Given the description of an element on the screen output the (x, y) to click on. 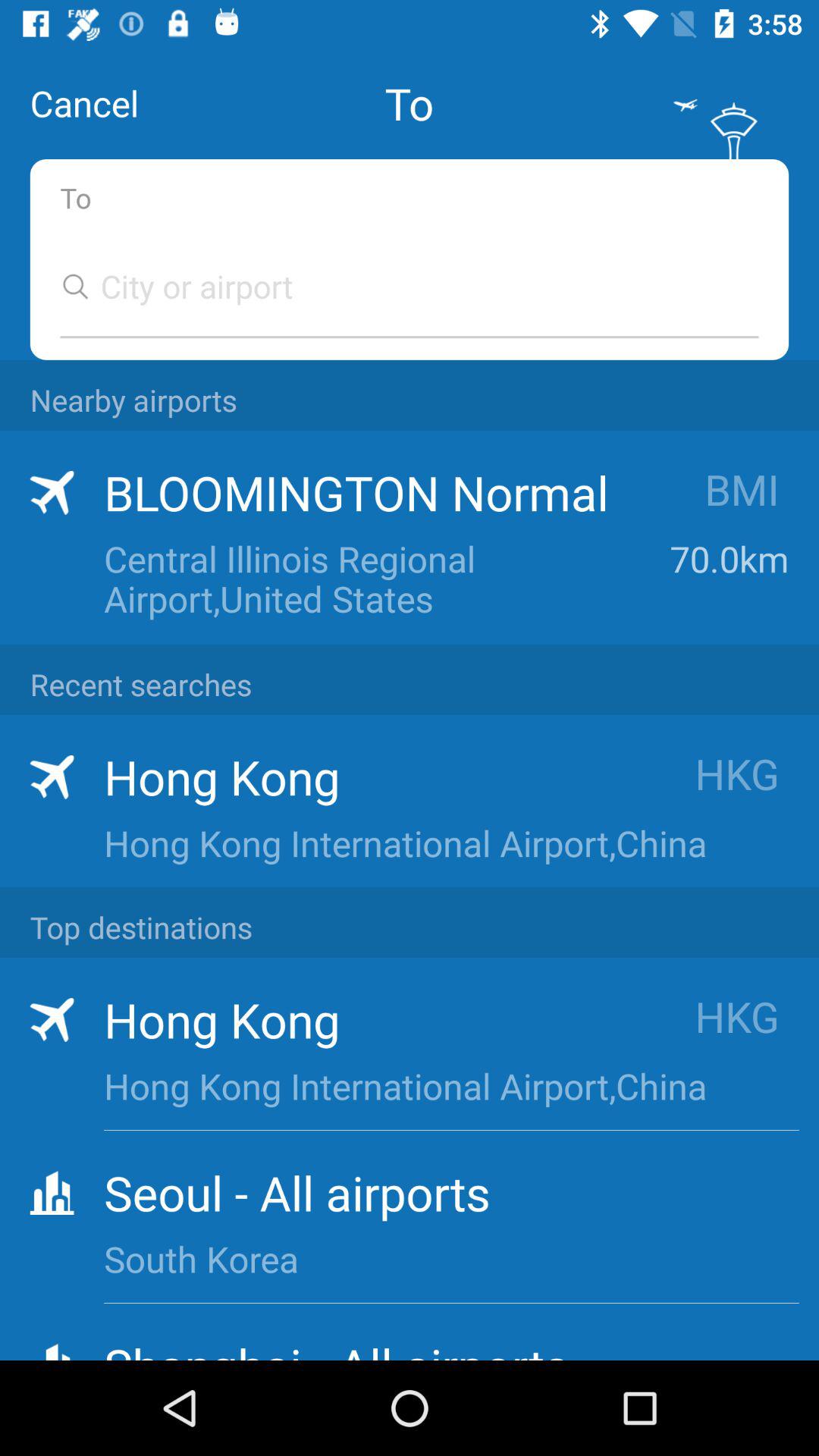
enter destination (394, 286)
